Given the description of an element on the screen output the (x, y) to click on. 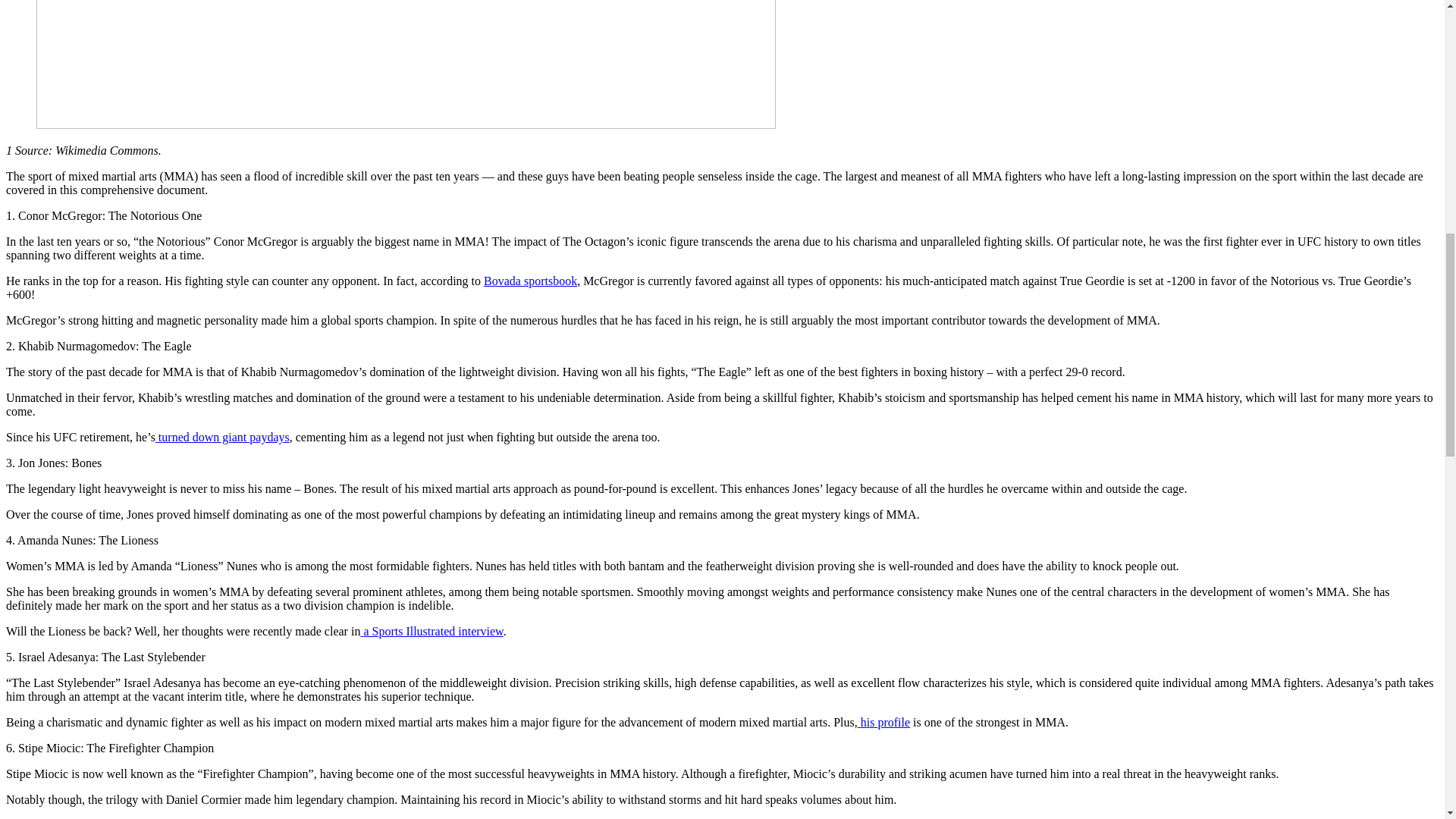
Bovada sportsbook (529, 280)
his profile (885, 721)
turned down giant paydays (223, 436)
a Sports Illustrated interview (432, 631)
